Given the description of an element on the screen output the (x, y) to click on. 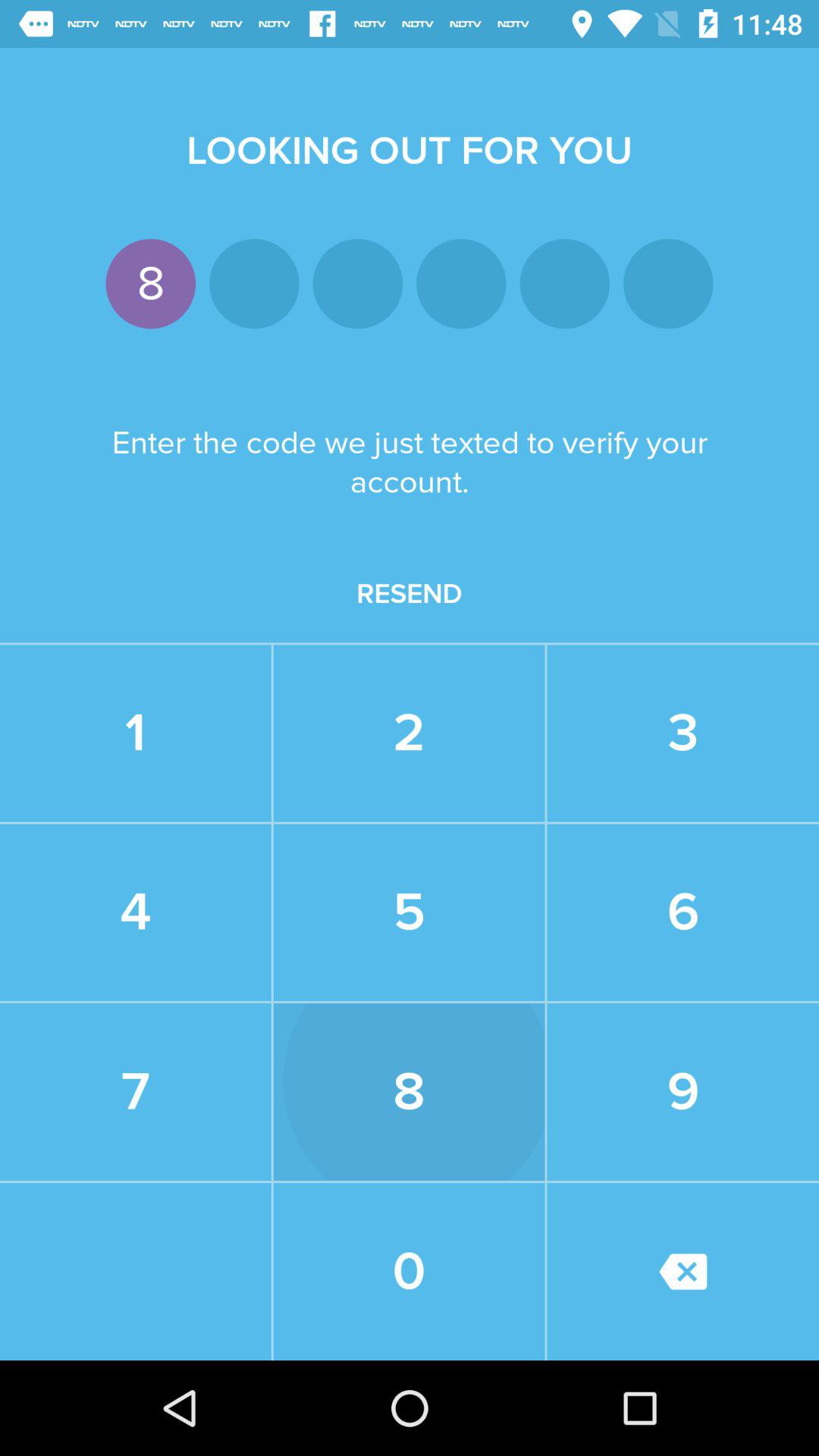
tap 4 item (135, 912)
